Given the description of an element on the screen output the (x, y) to click on. 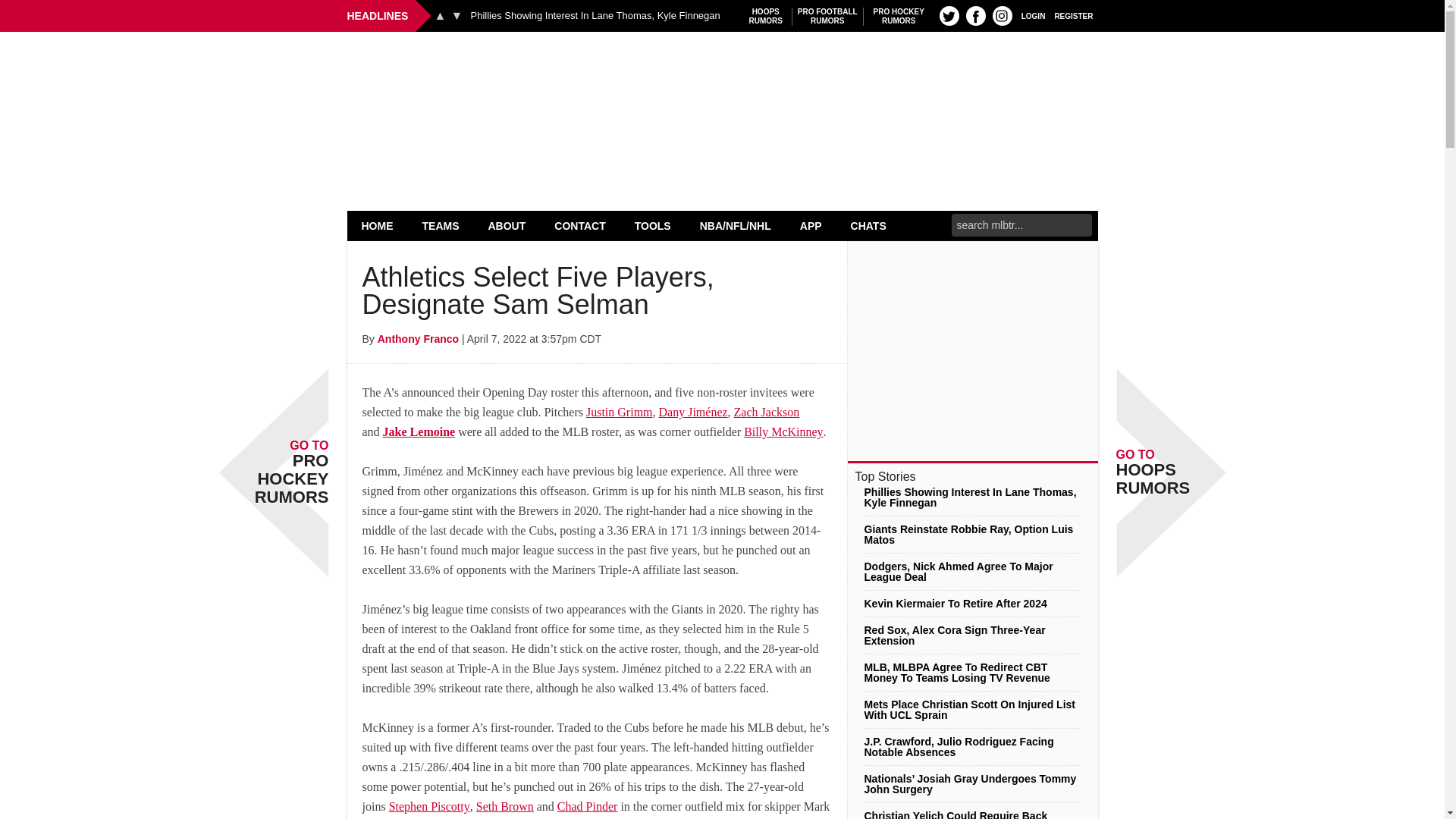
FB profile (975, 15)
Twitter profile (949, 15)
Instagram profile (1001, 15)
TEAMS (440, 225)
Previous (439, 15)
LOGIN (827, 16)
Phillies Showing Interest In Lane Thomas, Kyle Finnegan (898, 16)
HOME (1032, 15)
REGISTER (594, 15)
Next (377, 225)
MLB Trade Rumors (1073, 15)
